Given the description of an element on the screen output the (x, y) to click on. 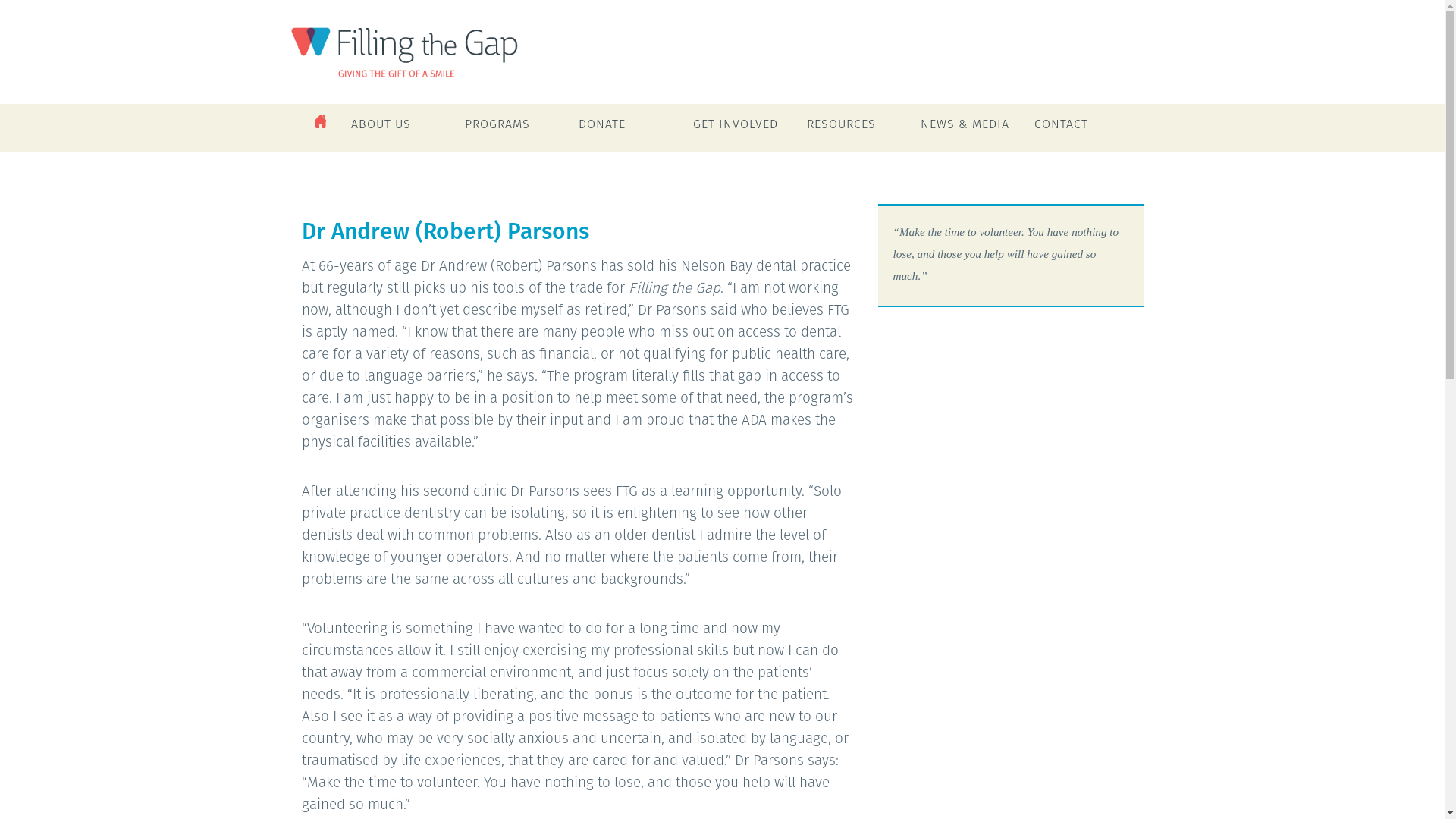
DONATE Element type: text (629, 130)
CONTACT Element type: text (1085, 130)
ABOUT US Element type: text (401, 130)
RESOURCES Element type: text (857, 130)
PROGRAMS Element type: text (515, 130)
NEWS & MEDIA Element type: text (971, 130)
GET INVOLVED Element type: text (743, 130)
